Given the description of an element on the screen output the (x, y) to click on. 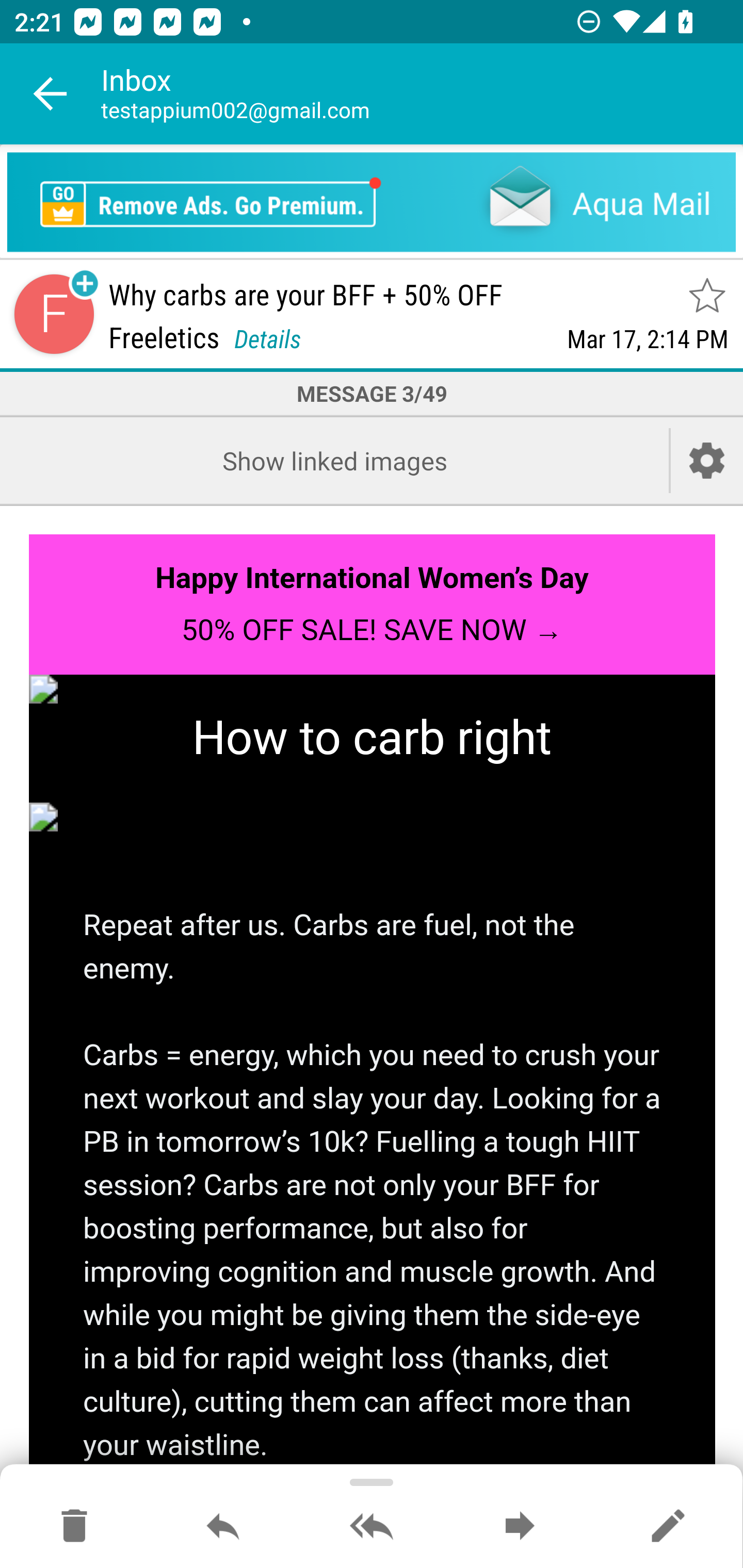
Navigate up (50, 93)
Inbox testappium002@gmail.com (422, 93)
Sender contact button (53, 314)
Show linked images (334, 460)
Account setup (706, 460)
Happy International Women’s Day (371, 577)
50% OFF SALE! SAVE NOW → (371, 629)
data: (372, 816)
Move to Deleted (74, 1527)
Reply (222, 1527)
Reply all (371, 1527)
Forward (519, 1527)
Reply as new (667, 1527)
